Given the description of an element on the screen output the (x, y) to click on. 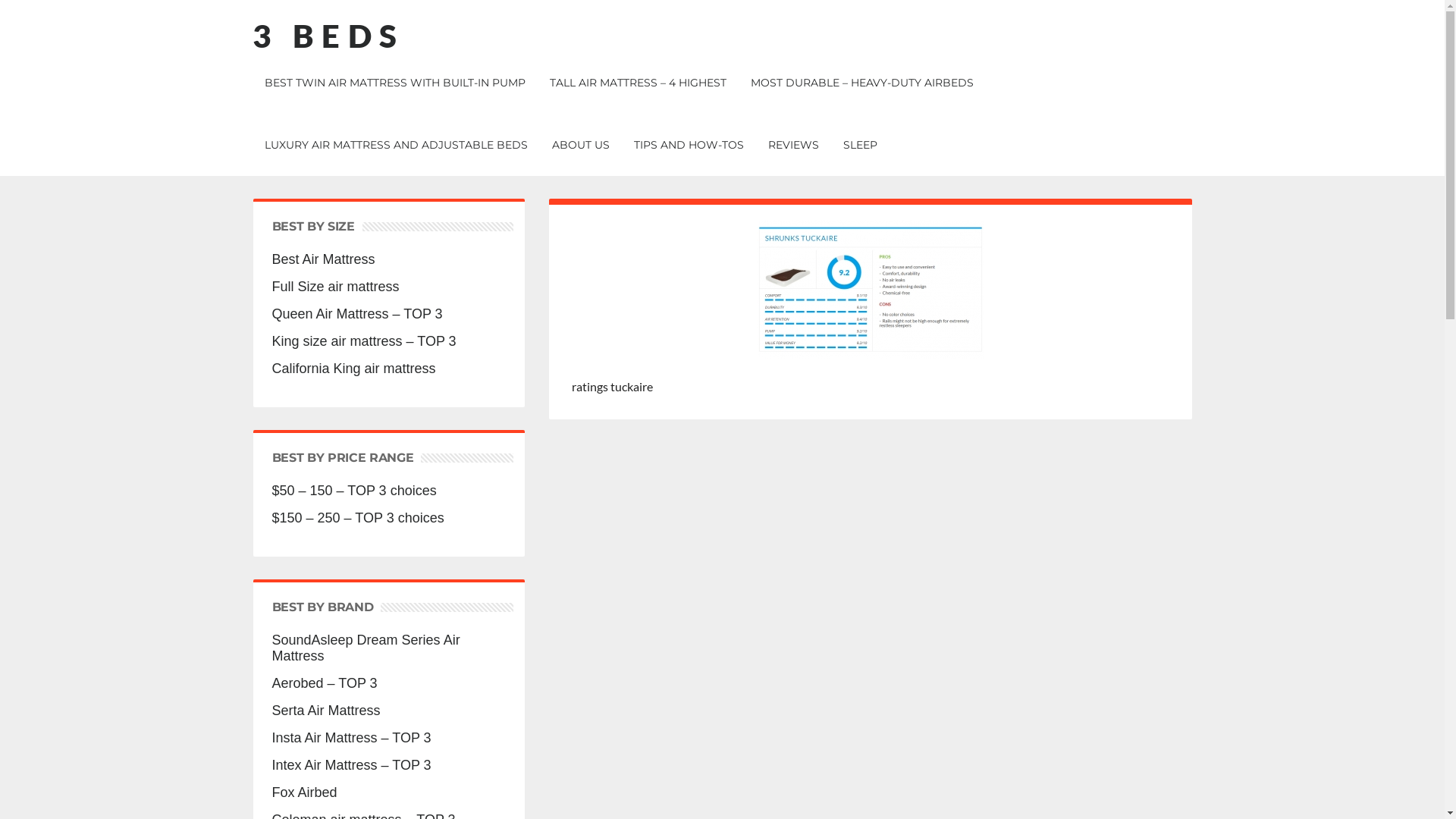
Full Size air mattress Element type: text (388, 286)
SoundAsleep Dream Series Air Mattress Element type: text (388, 648)
Fox Airbed Element type: text (388, 792)
REVIEWS Element type: text (792, 144)
BEST TWIN AIR MATTRESS WITH BUILT-IN PUMP Element type: text (394, 82)
ABOUT US Element type: text (580, 144)
SLEEP Element type: text (860, 144)
LUXURY AIR MATTRESS AND ADJUSTABLE BEDS Element type: text (395, 144)
3 BEDS Element type: text (327, 35)
Serta Air Mattress Element type: text (388, 710)
TIPS AND HOW-TOS Element type: text (688, 144)
California King air mattress Element type: text (388, 368)
Best Air Mattress Element type: text (388, 259)
